Given the description of an element on the screen output the (x, y) to click on. 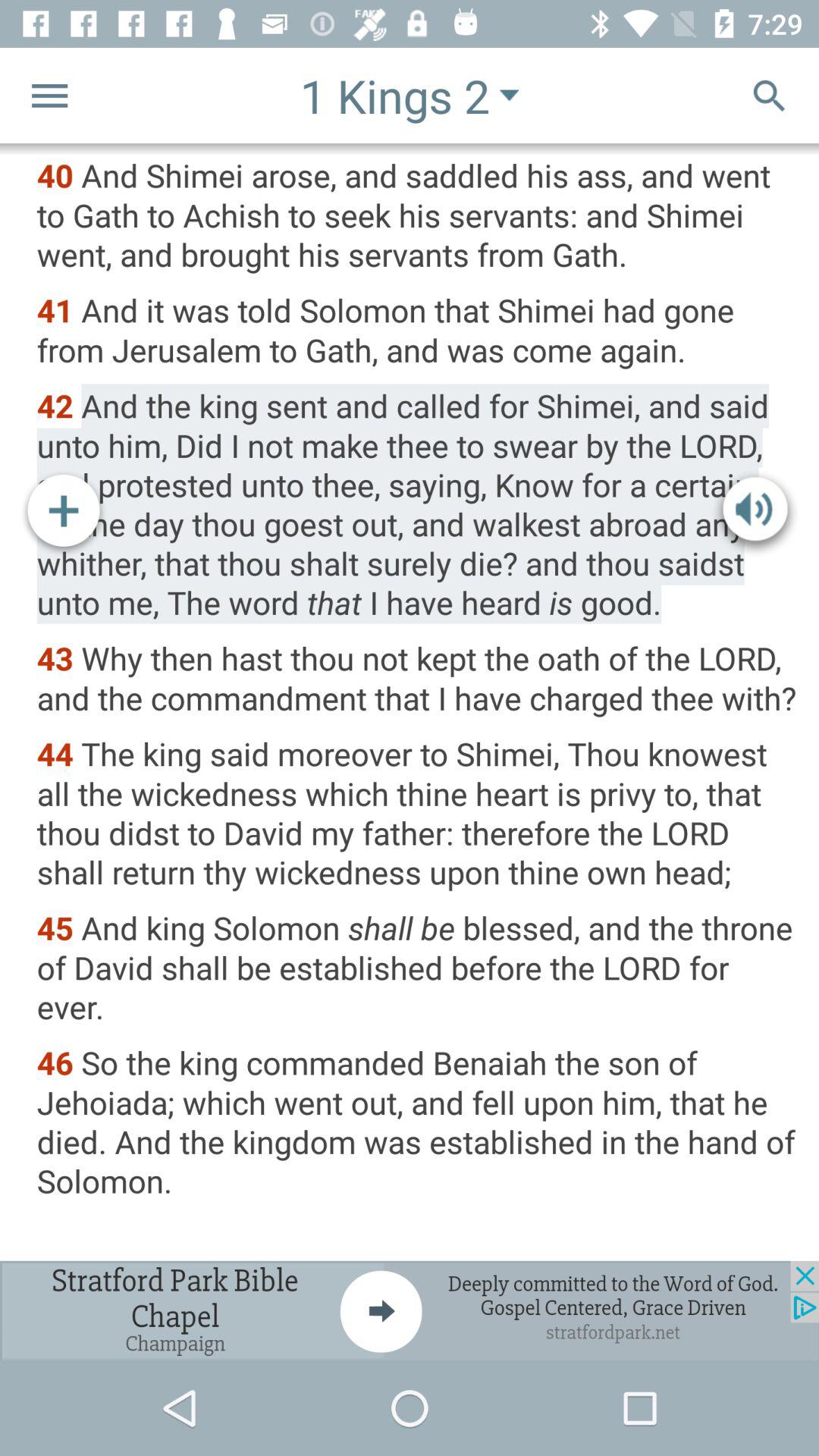
open search (769, 95)
